Given the description of an element on the screen output the (x, y) to click on. 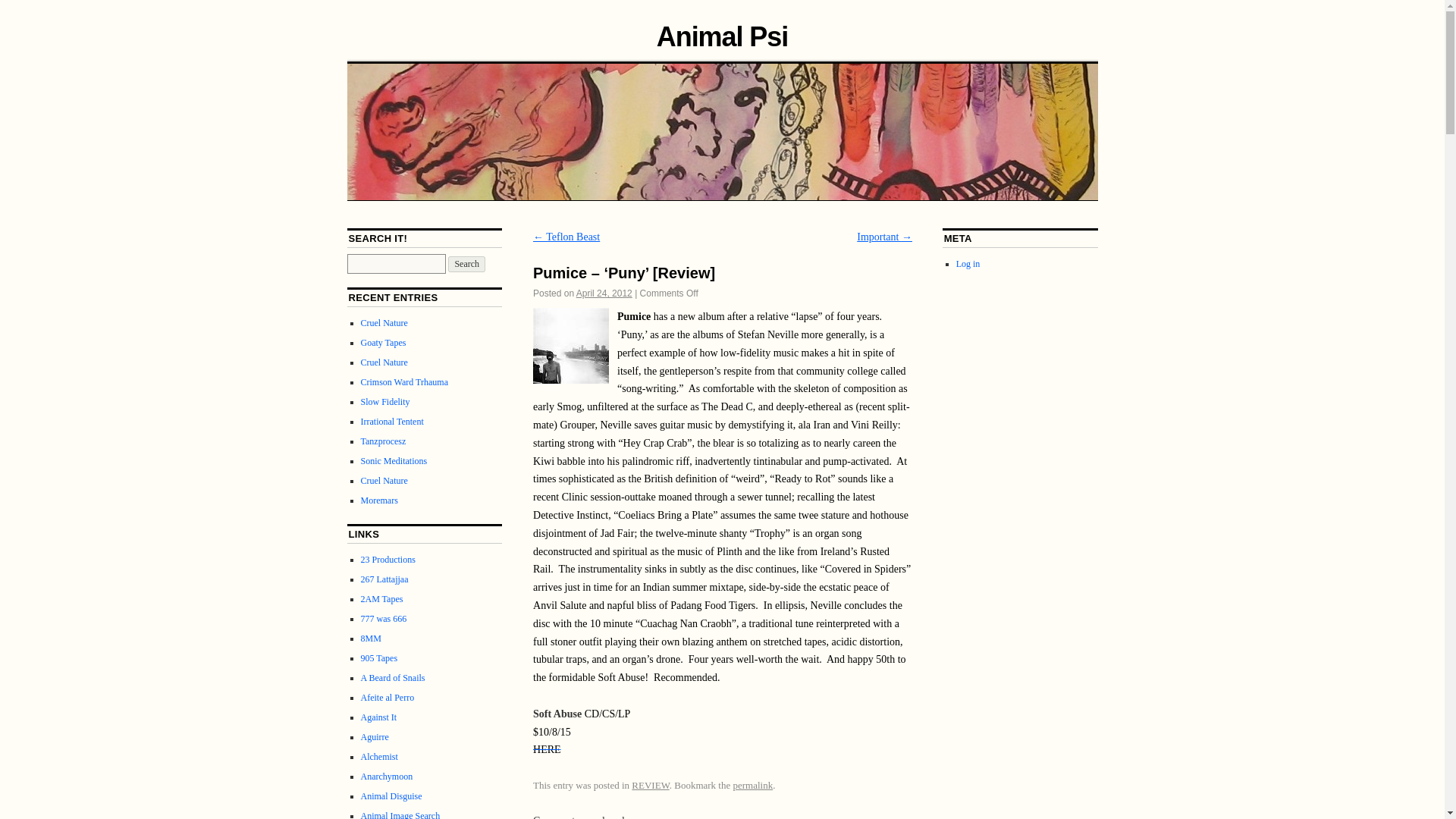
Animal Psi (721, 36)
Goaty Tapes (383, 342)
Irrational Tentent (392, 421)
REVIEW (649, 785)
permalink (752, 785)
Animal Psi (721, 36)
Animal Image Search (401, 814)
HERE (546, 749)
A Beard of Snails (393, 677)
777 was 666 (384, 618)
